Given the description of an element on the screen output the (x, y) to click on. 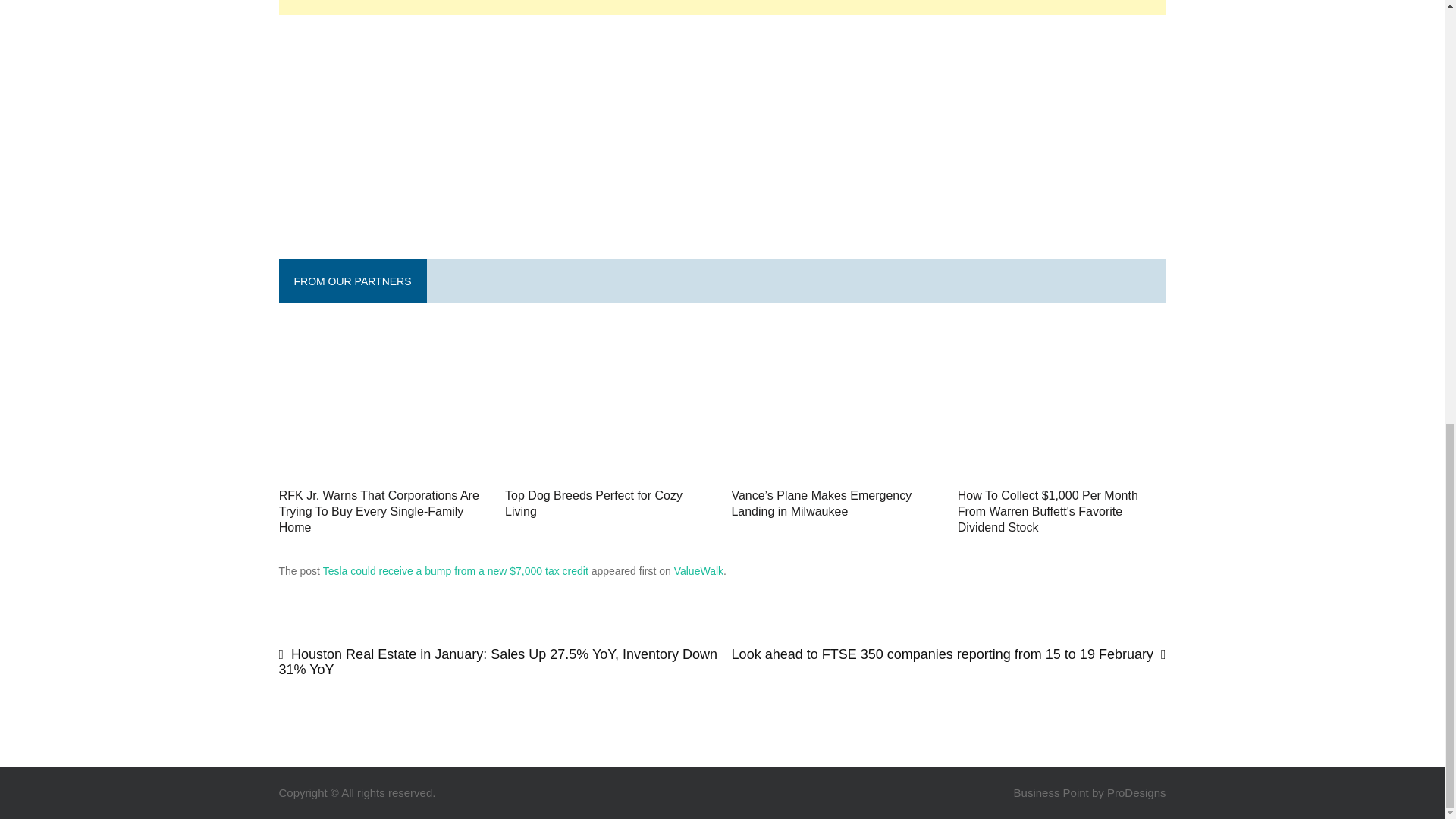
ProDesigns (1136, 792)
ValueWalk (698, 571)
Top Dog Breeds Perfect for Cozy Living (609, 504)
